Given the description of an element on the screen output the (x, y) to click on. 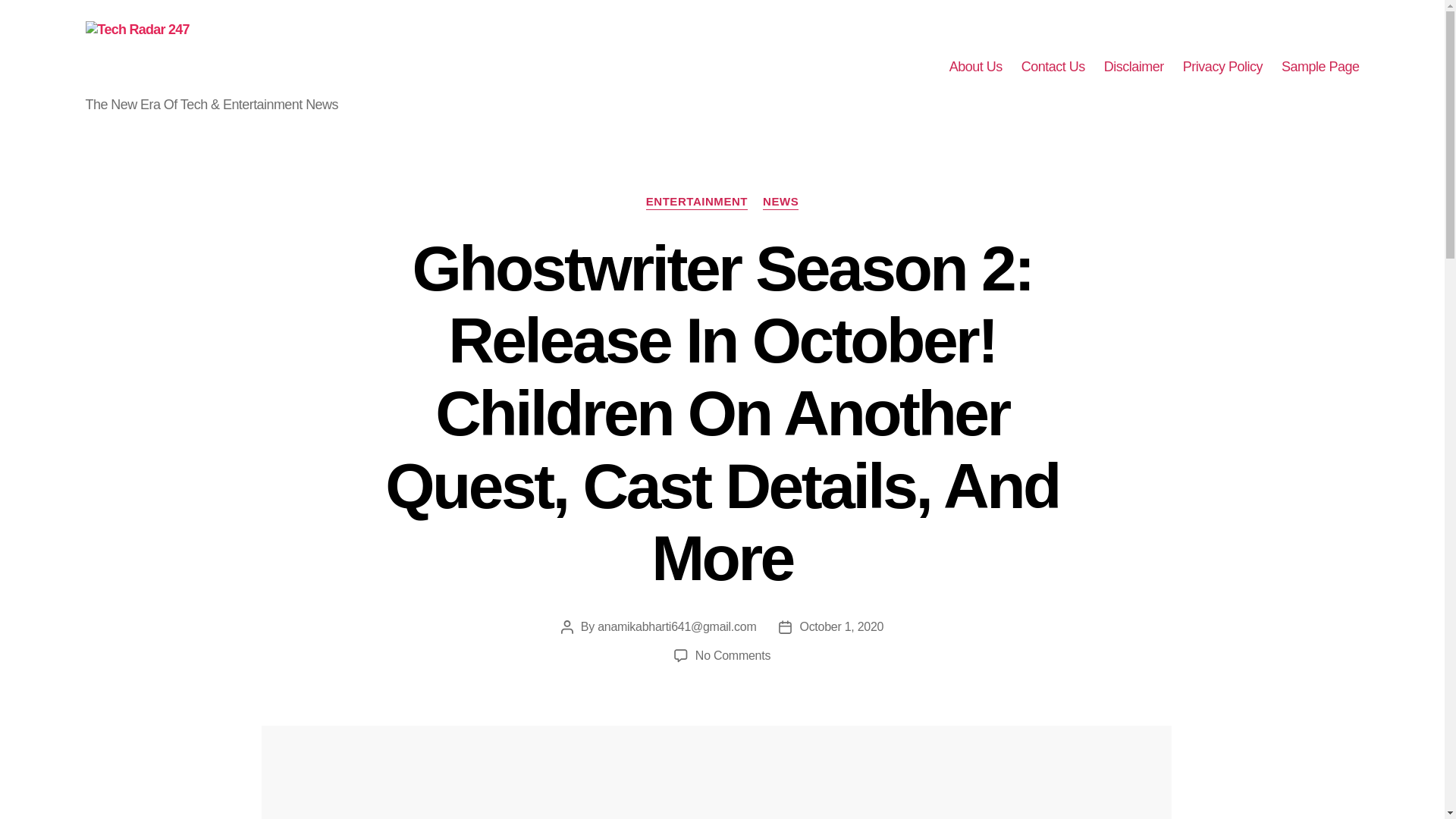
About Us (976, 67)
Privacy Policy (1222, 67)
October 1, 2020 (841, 626)
Disclaimer (1133, 67)
Sample Page (1320, 67)
NEWS (779, 201)
Contact Us (1053, 67)
ENTERTAINMENT (697, 201)
